Given the description of an element on the screen output the (x, y) to click on. 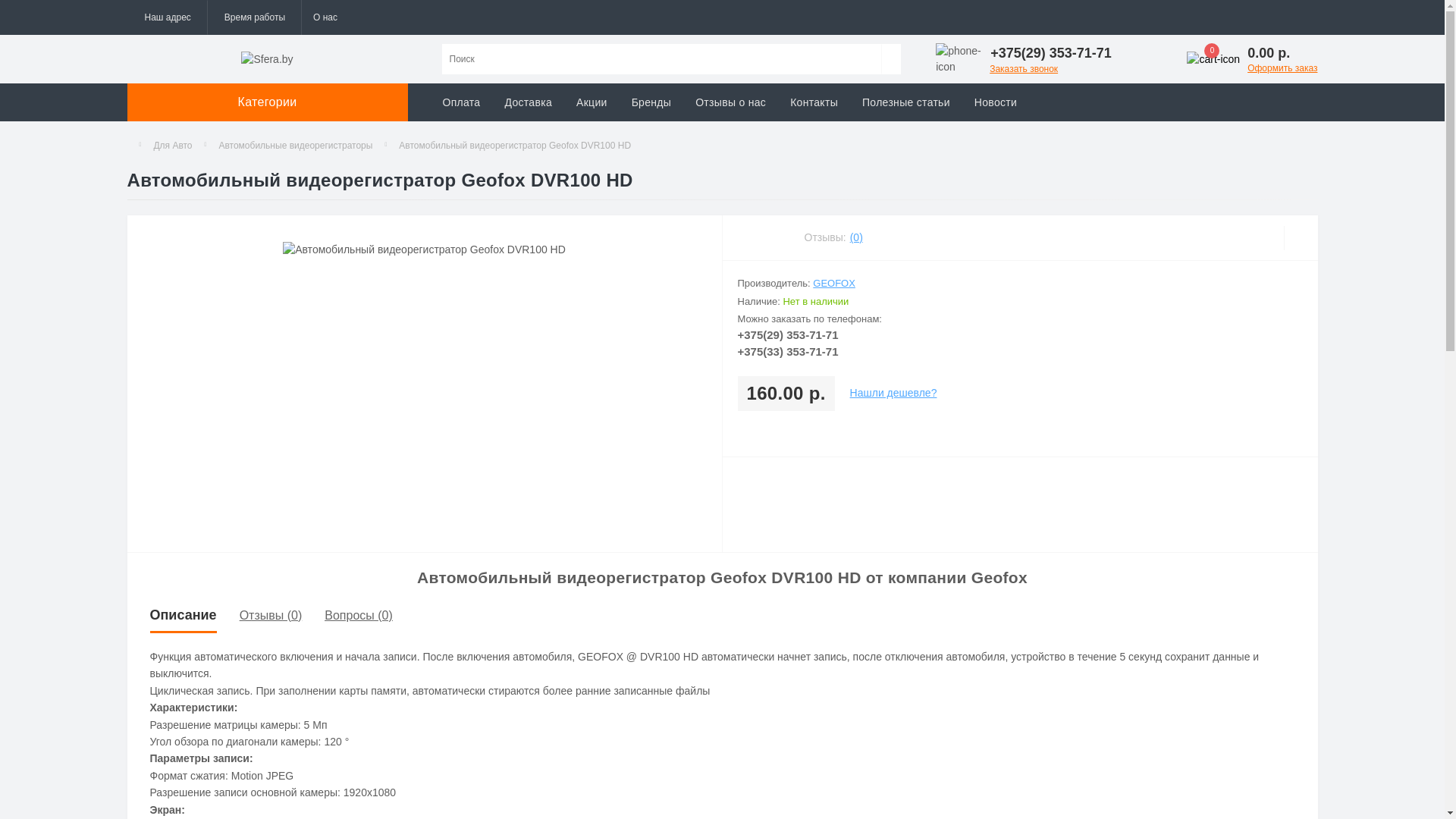
Sfera.by Element type: hover (266, 59)
Geofox Element type: text (999, 577)
0 Element type: text (1212, 58)
+375(29) 353-71-71 Element type: text (787, 333)
+375(33) 353-71-71 Element type: text (787, 351)
GEOFOX Element type: text (833, 282)
(0) Element type: text (856, 237)
+375(29) 353-71-71 Element type: text (1052, 53)
